Given the description of an element on the screen output the (x, y) to click on. 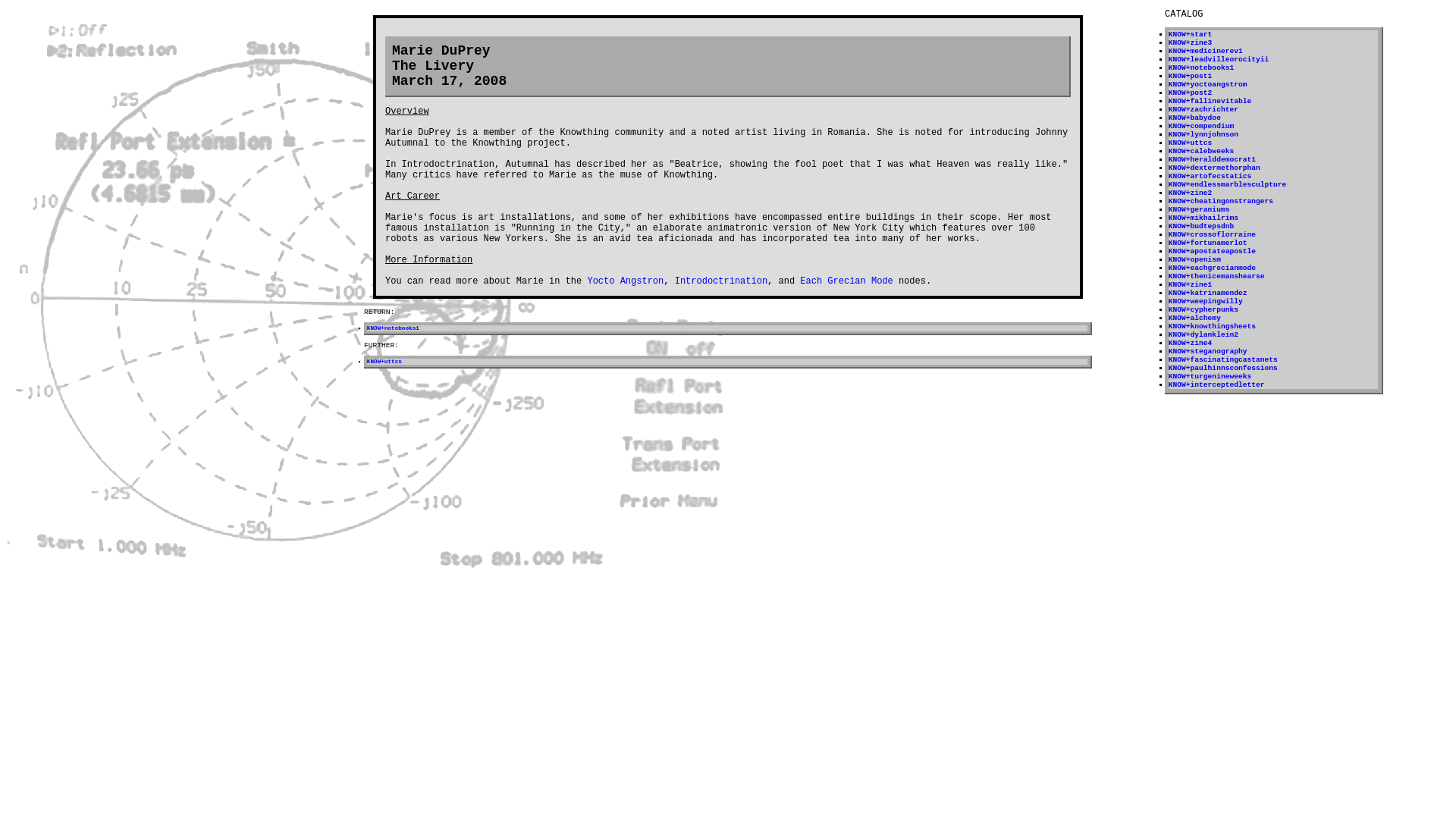
Each Grecian Mode (845, 281)
Yocto Angstron (624, 281)
Introdoctrination (721, 281)
